Given the description of an element on the screen output the (x, y) to click on. 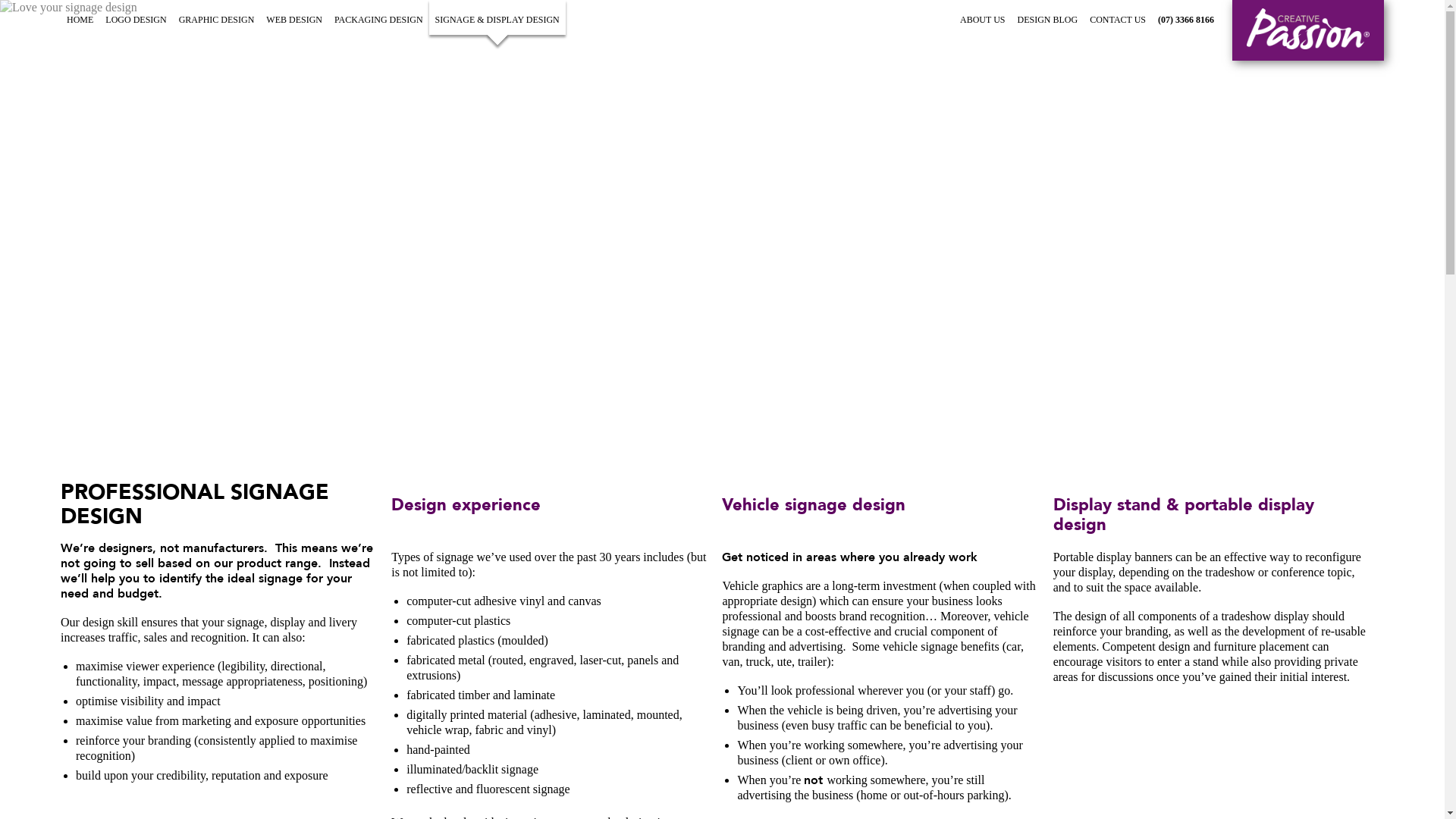
CONTACT US Element type: text (1117, 17)
Creative Passion Element type: hover (1307, 28)
(07) 3366 8166 Element type: text (1185, 17)
LOGO DESIGN Element type: text (135, 17)
WEB DESIGN Element type: text (294, 17)
ABOUT US Element type: text (981, 17)
HOME Element type: text (79, 17)
PACKAGING DESIGN Element type: text (378, 17)
SIGNAGE & DISPLAY DESIGN Element type: text (497, 17)
GRAPHIC DESIGN Element type: text (216, 17)
DESIGN BLOG Element type: text (1047, 17)
